Given the description of an element on the screen output the (x, y) to click on. 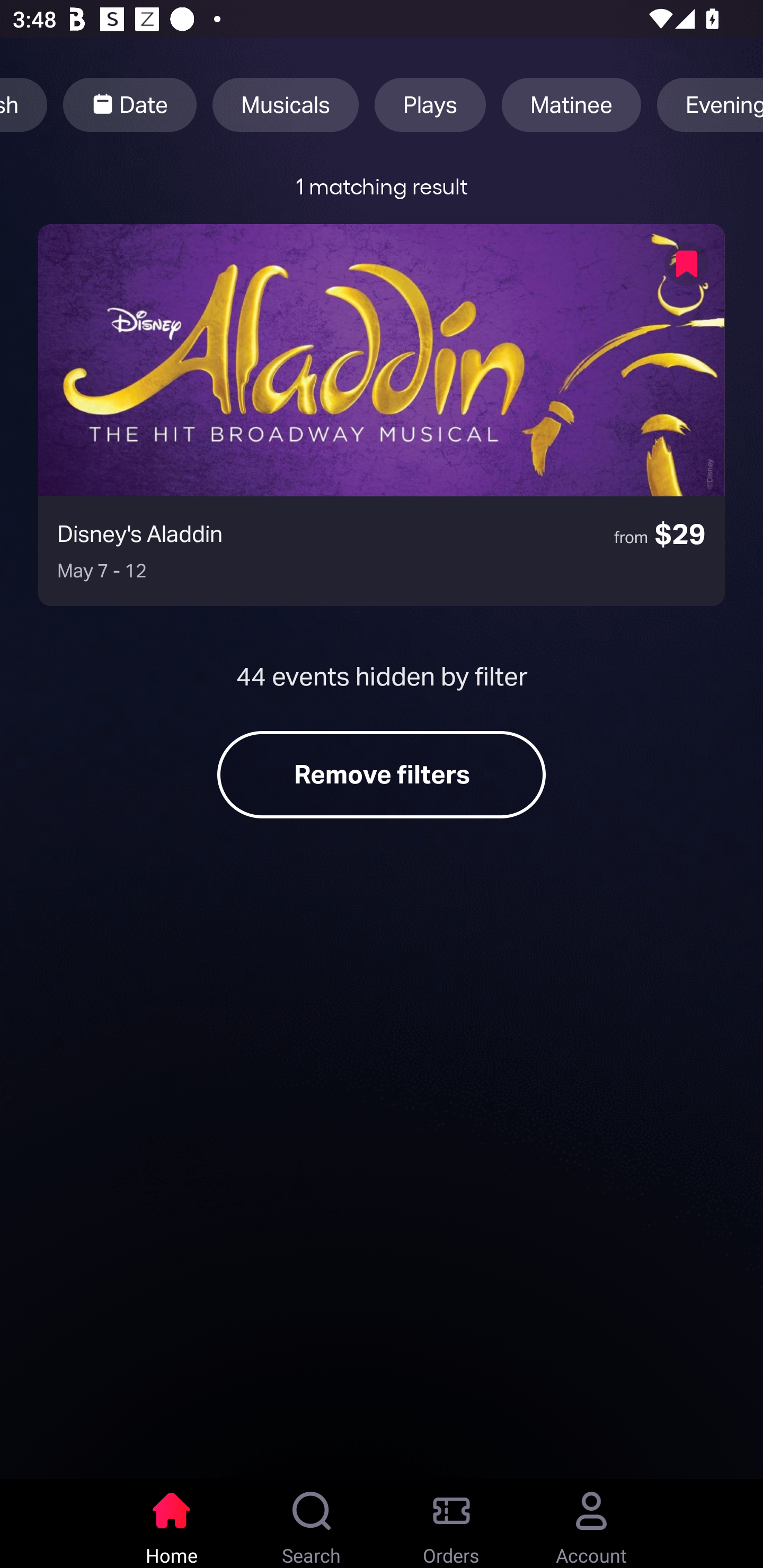
Date (129, 104)
Musicals (285, 104)
Plays (430, 104)
Matinee (571, 104)
Disney's Aladdin from $29 May 7 - 12 (381, 414)
Remove filters (381, 774)
Search (311, 1523)
Orders (451, 1523)
Account (591, 1523)
